Given the description of an element on the screen output the (x, y) to click on. 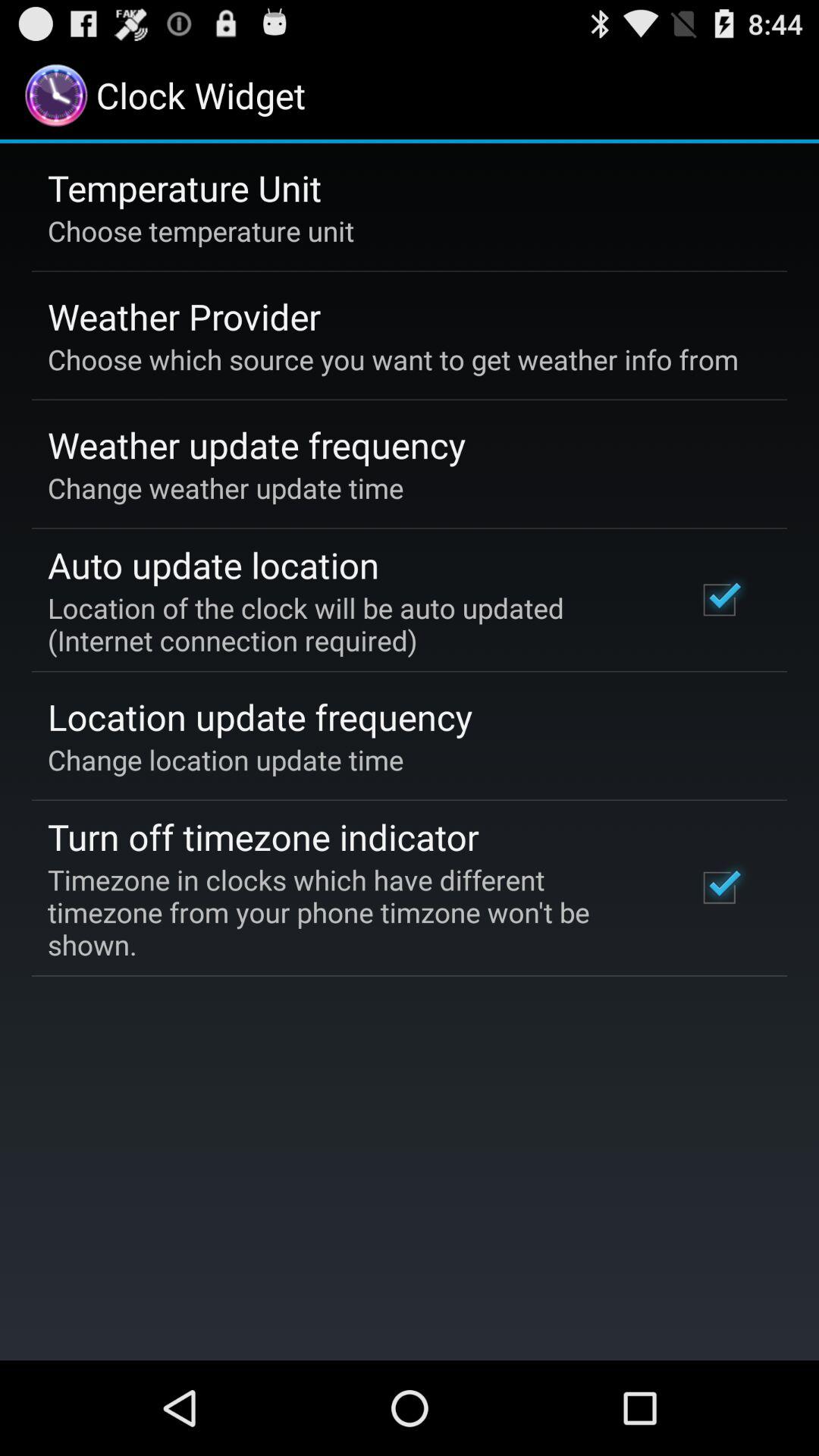
launch the weather provider item (183, 316)
